Given the description of an element on the screen output the (x, y) to click on. 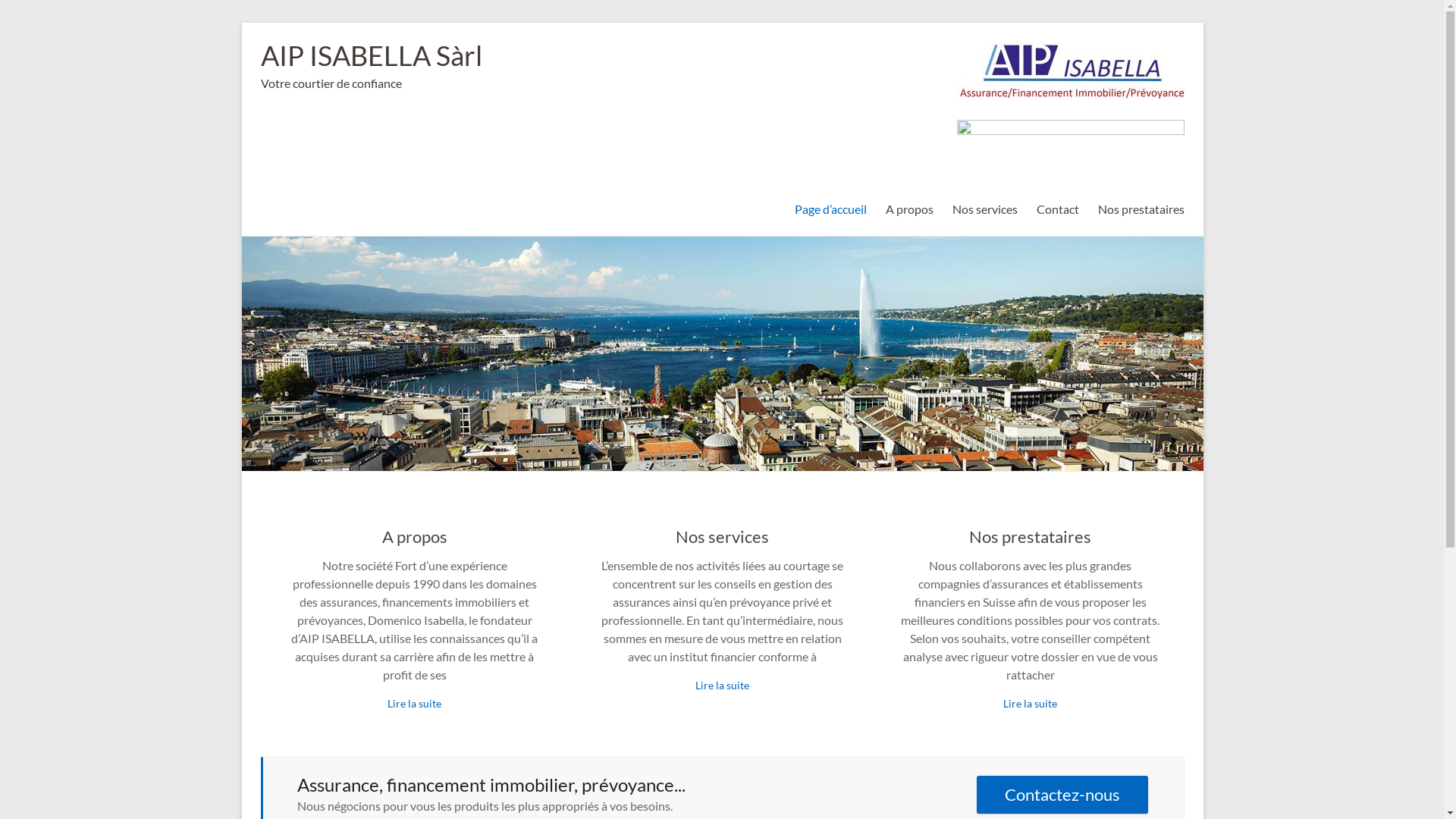
Lire la suite Element type: text (414, 702)
Lire la suite Element type: text (722, 684)
A propos Element type: text (909, 206)
Nos prestataires Element type: text (1141, 206)
Contactez-nous Element type: text (1062, 794)
Nos services Element type: text (984, 206)
Lire la suite Element type: text (1030, 702)
Nos prestataires Element type: text (1030, 536)
Contact Element type: text (1056, 206)
A propos Element type: text (414, 536)
Nos services Element type: text (721, 536)
